Given the description of an element on the screen output the (x, y) to click on. 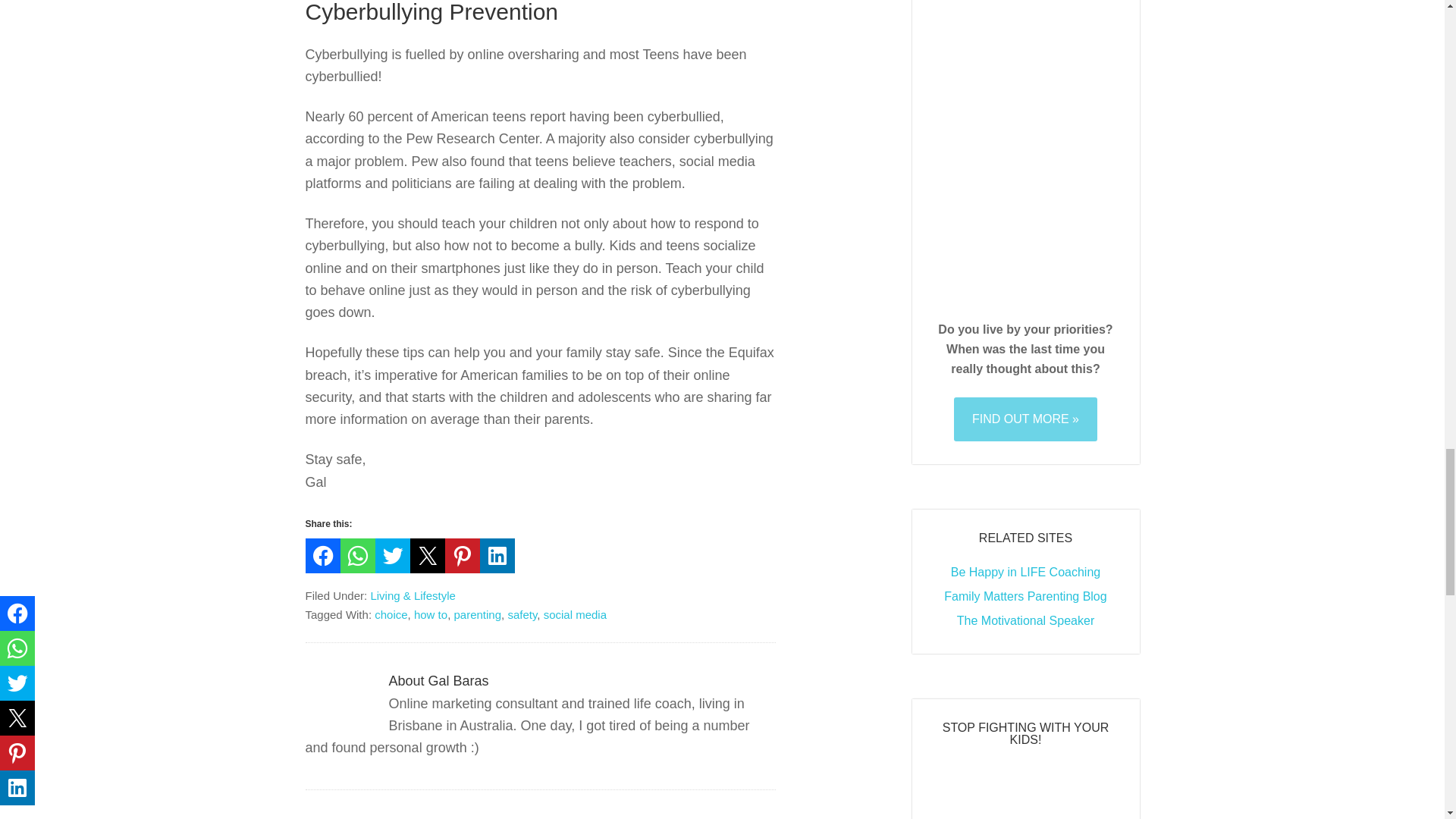
parenting (476, 614)
social media (575, 614)
how to (429, 614)
safety (521, 614)
choice (390, 614)
